Given the description of an element on the screen output the (x, y) to click on. 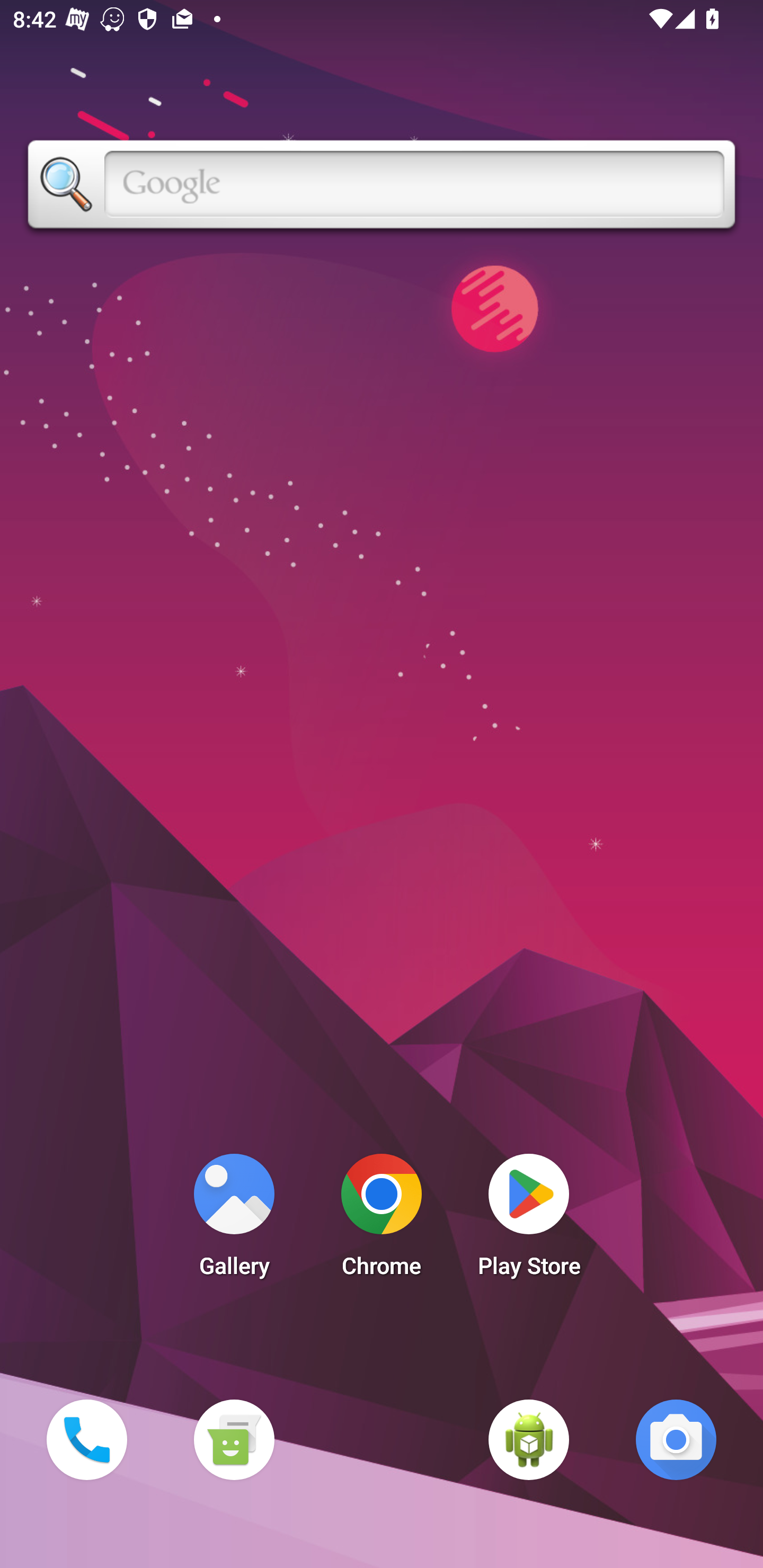
Gallery (233, 1220)
Chrome (381, 1220)
Play Store (528, 1220)
Phone (86, 1439)
Messaging (233, 1439)
WebView Browser Tester (528, 1439)
Camera (676, 1439)
